Given the description of an element on the screen output the (x, y) to click on. 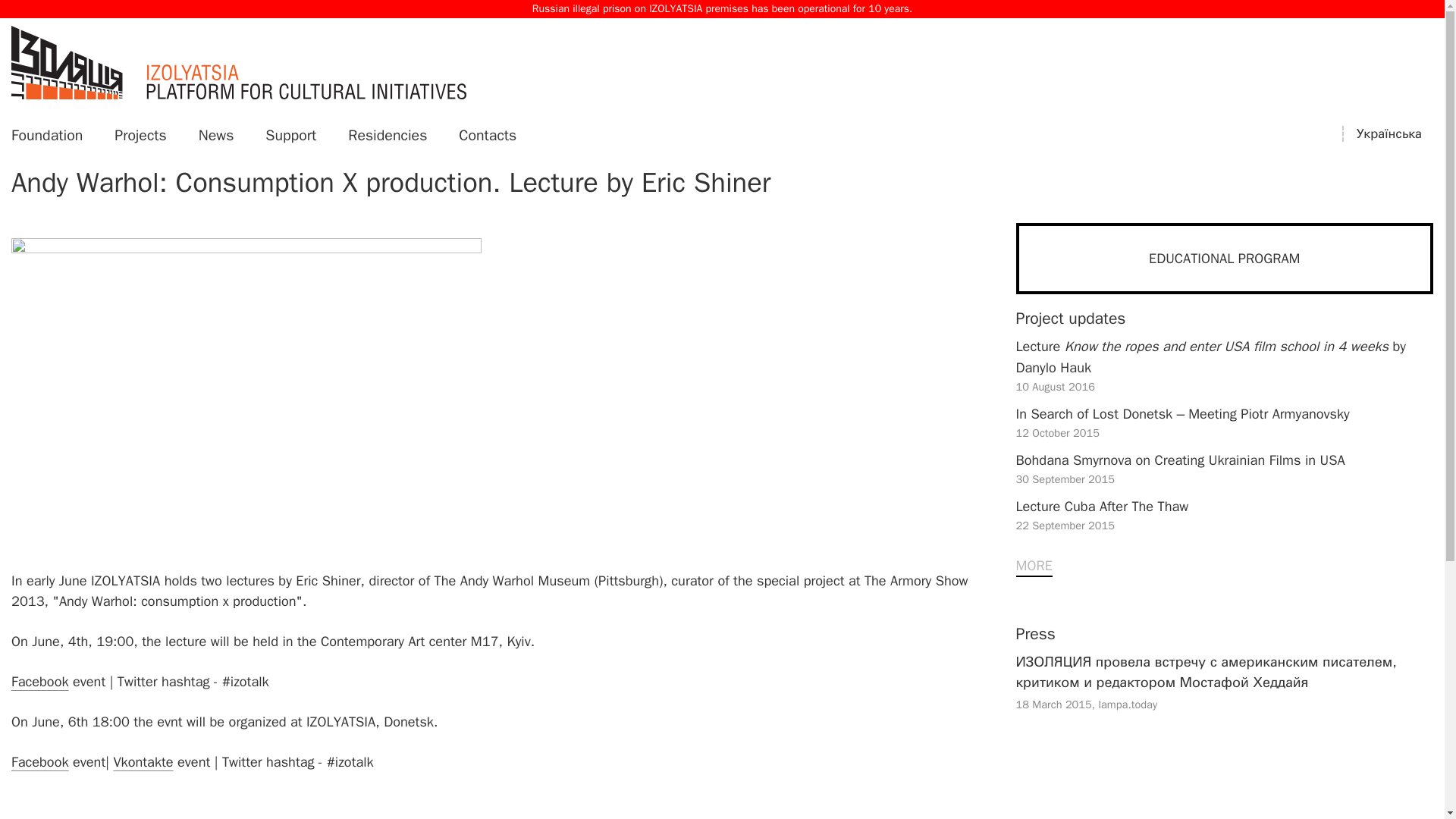
Support (289, 135)
News (216, 135)
Foundation (46, 135)
EDUCATIONAL PROGRAM (1225, 258)
Vkontakte (143, 761)
Projects (140, 135)
Facebook (39, 681)
Residencies (1225, 519)
Facebook (386, 135)
Contacts (39, 761)
